Given the description of an element on the screen output the (x, y) to click on. 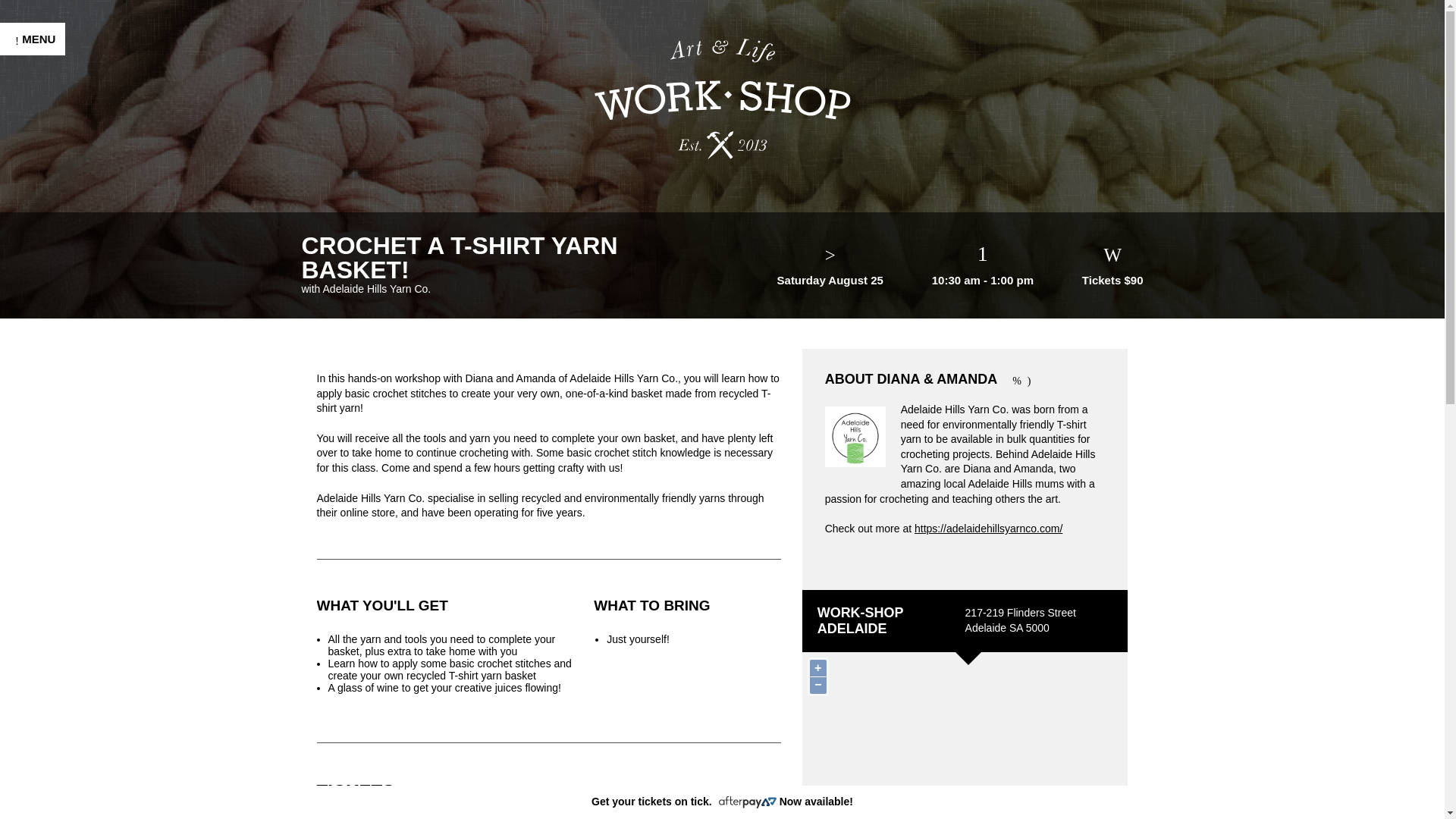
Work-Shop (722, 97)
CONTACT (47, 595)
TEAM BUILDING (67, 268)
Attributions (1112, 799)
TEACH (37, 471)
Zoom in (818, 668)
Zoom out (818, 685)
HOME (35, 206)
MENU (32, 38)
VENUE HIRE MELBOURNE (57, 400)
HENS ACTIVITIES (72, 299)
GIFT VOUCHERS (71, 440)
i (1112, 799)
MURALS (42, 362)
ACTIVATIONS (58, 331)
